Given the description of an element on the screen output the (x, y) to click on. 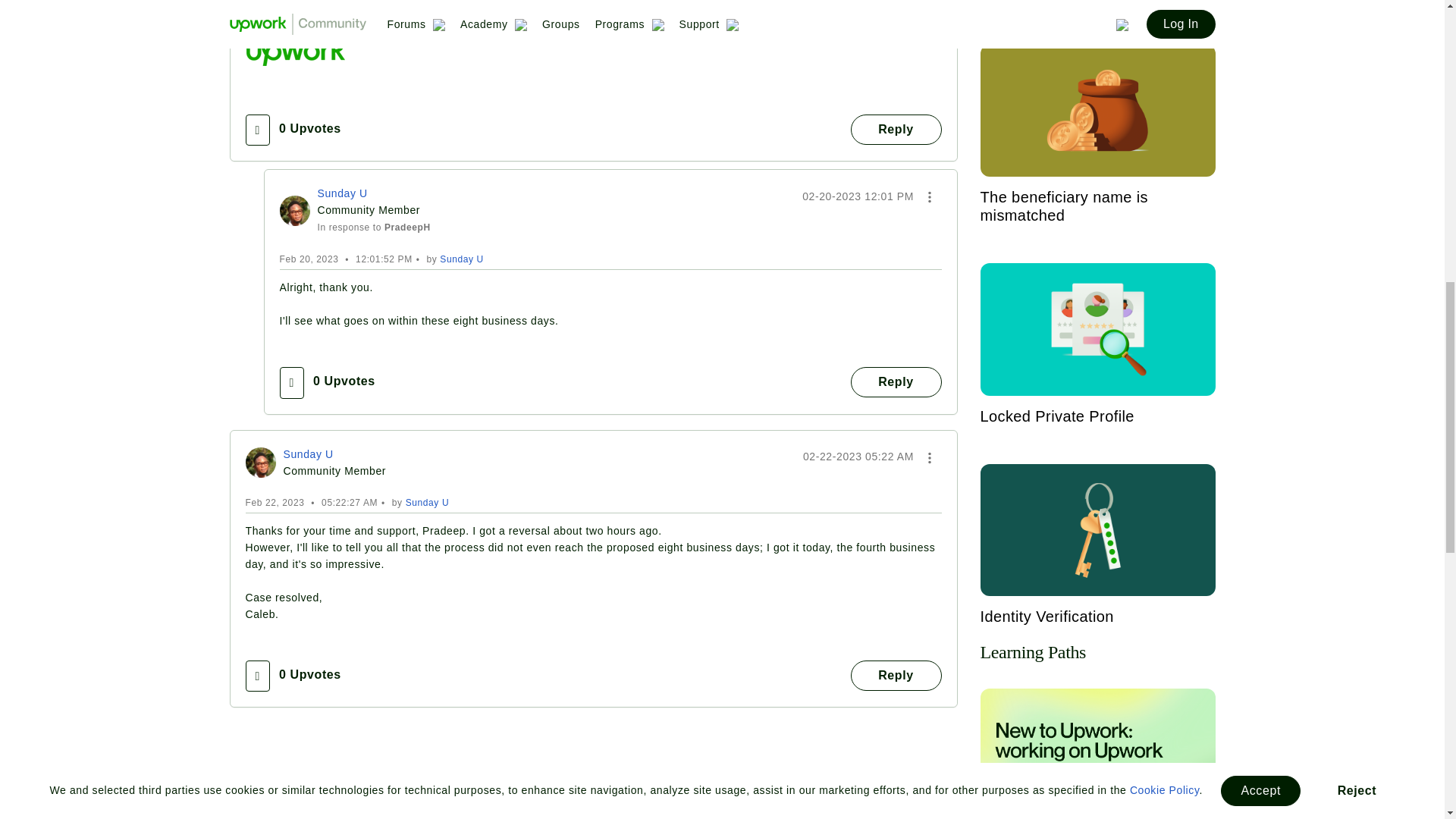
The total number of upvotes this post has received. (309, 128)
d4bbd937 (293, 210)
Posted on (858, 196)
